Given the description of an element on the screen output the (x, y) to click on. 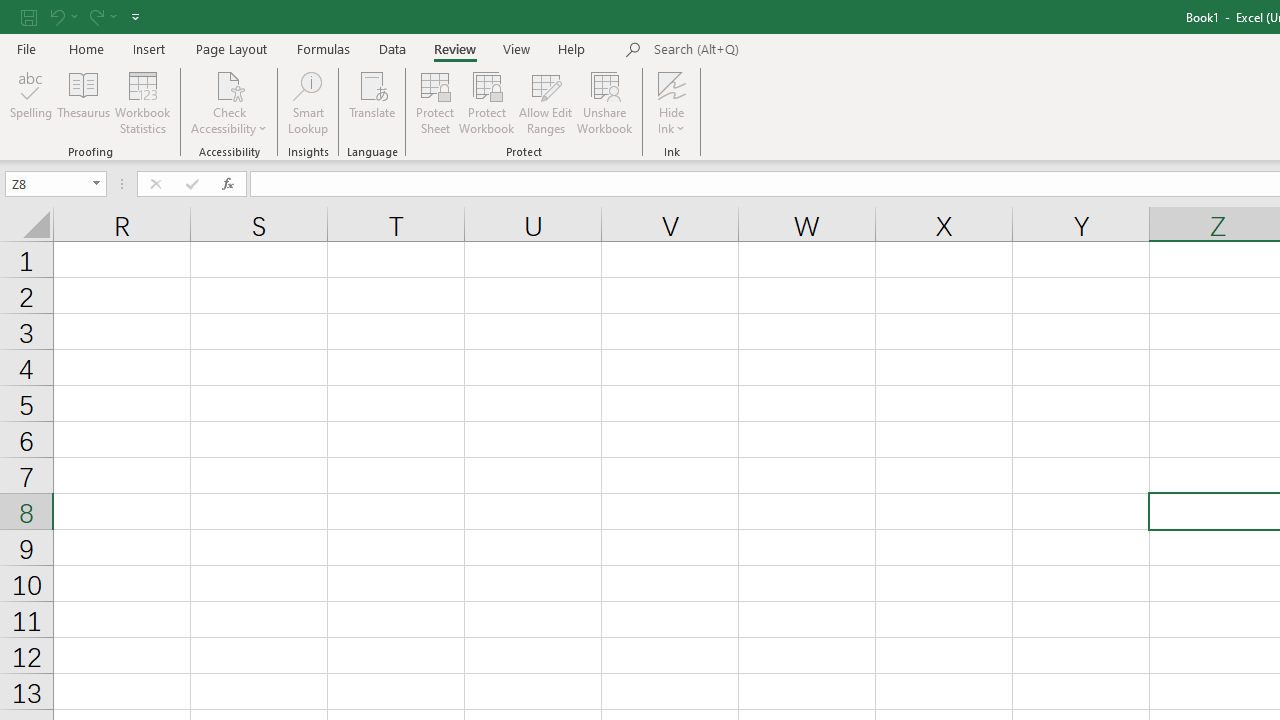
Unshare Workbook (604, 102)
Thesaurus... (83, 102)
Allow Edit Ranges (545, 102)
Formulas (323, 48)
Review (454, 48)
